Given the description of an element on the screen output the (x, y) to click on. 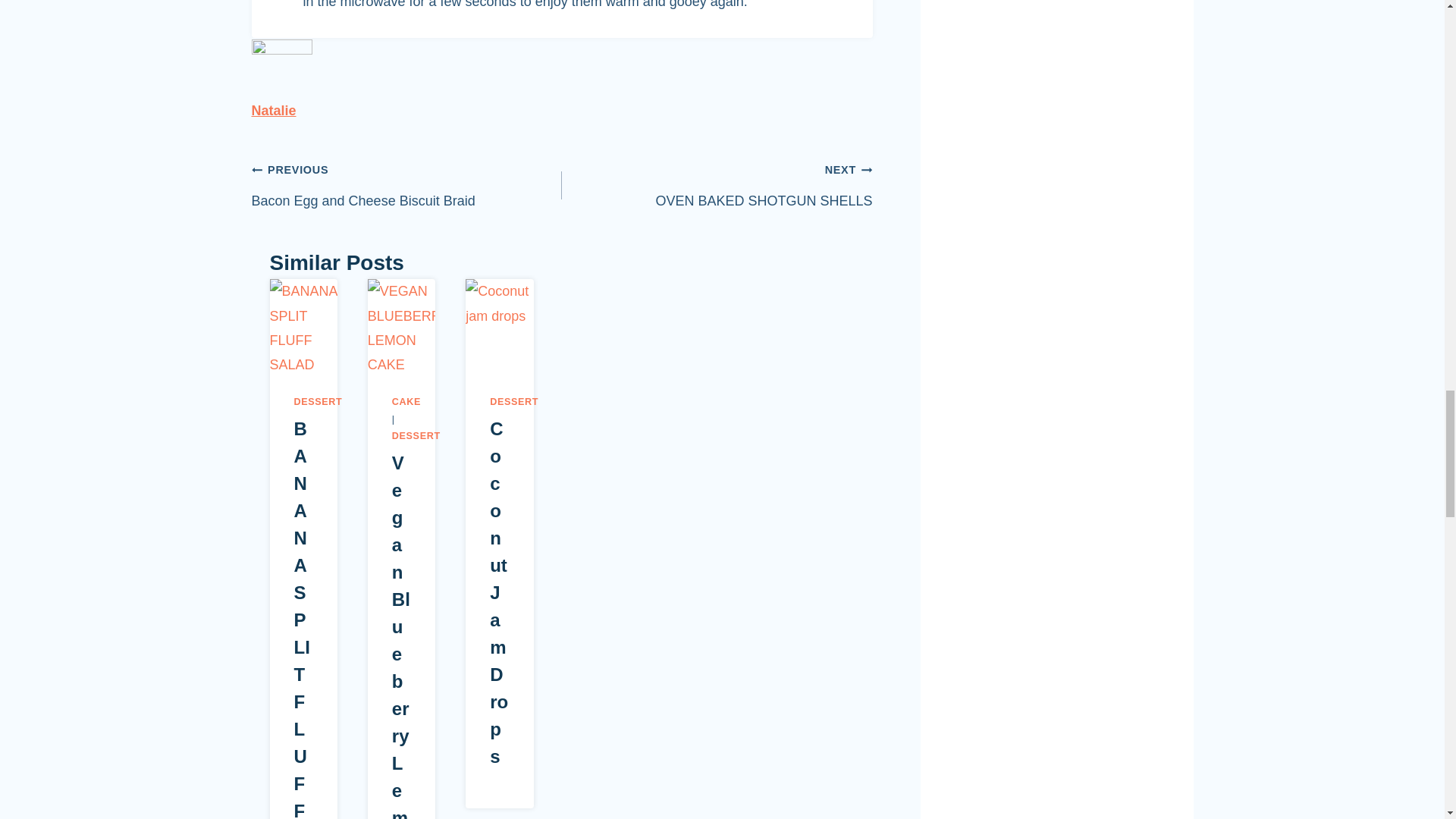
CAKE (405, 401)
Posts by Natalie (717, 184)
Natalie (274, 110)
DESSERT (274, 110)
DESSERT (318, 401)
DESSERT (406, 184)
